Given the description of an element on the screen output the (x, y) to click on. 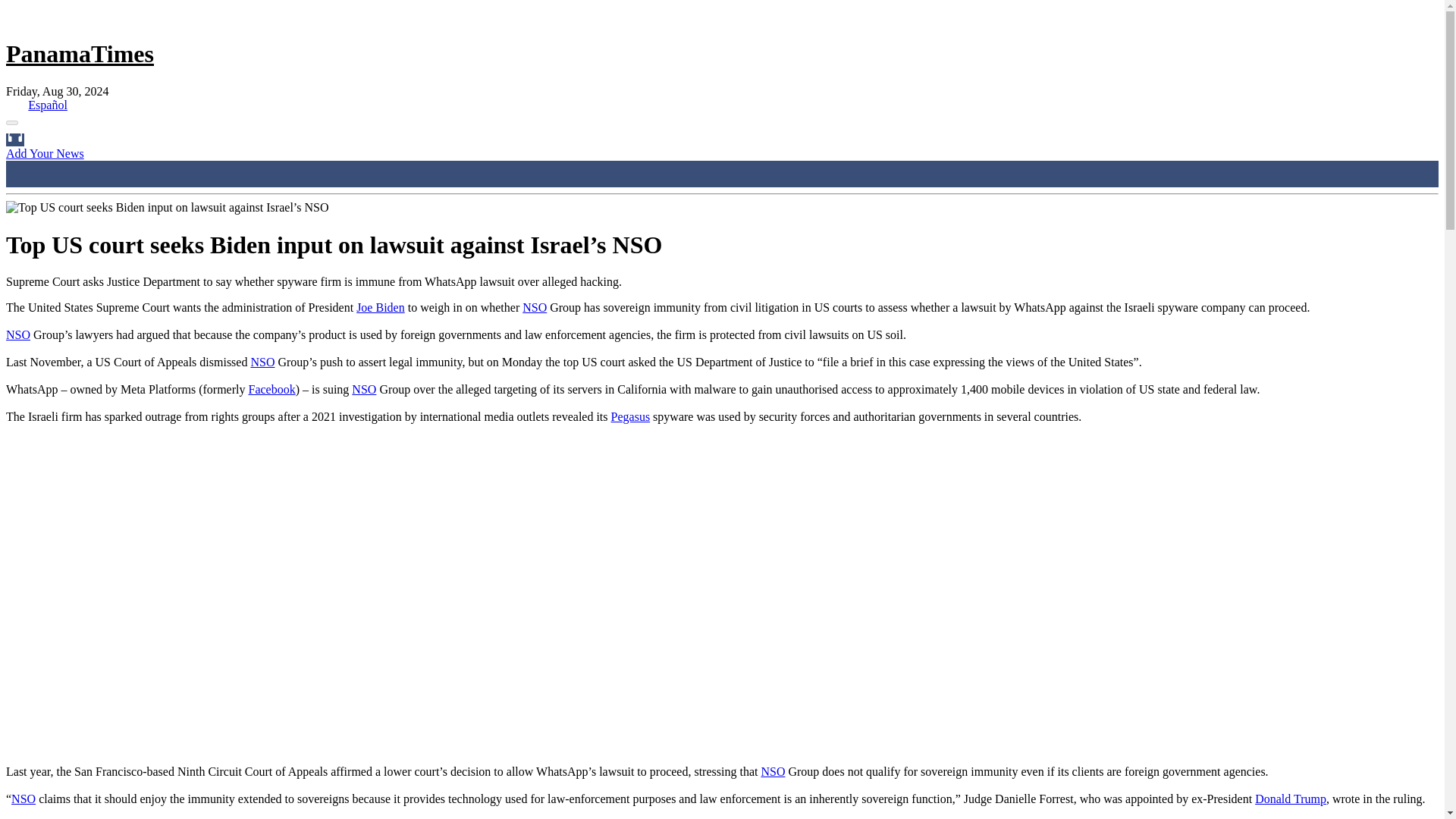
Facebook (271, 389)
NSO (363, 389)
Pegasus (630, 416)
NSO (262, 361)
Donald Trump (1290, 798)
Add Your News (44, 153)
NSO (22, 798)
NSO (17, 334)
PanamaTimes (79, 53)
Joe Biden (380, 307)
